Given the description of an element on the screen output the (x, y) to click on. 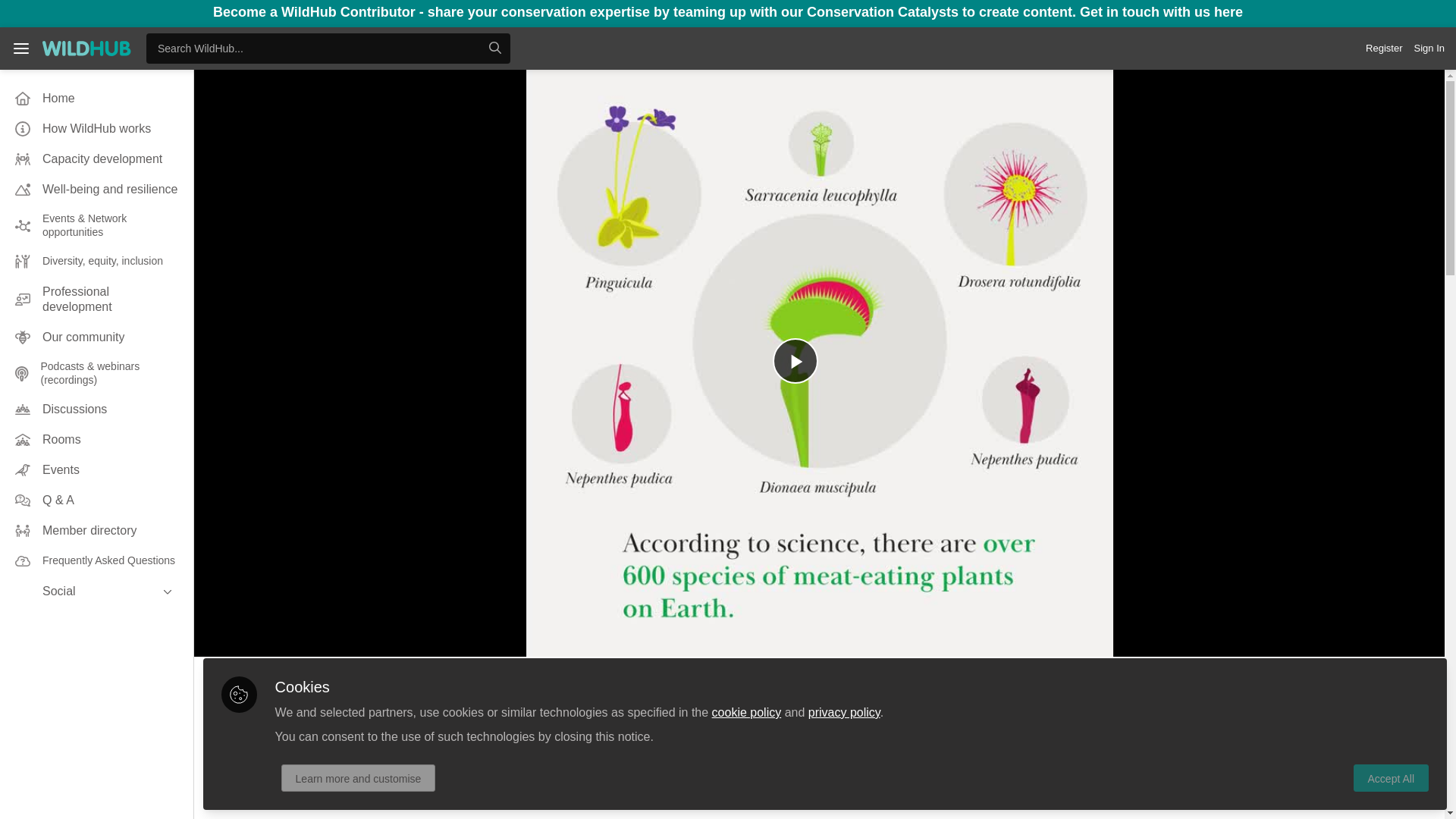
Menu (21, 48)
Well-being and resilience (96, 189)
Our community (96, 337)
WildHub (86, 48)
Member directory (96, 530)
Capacity development (96, 158)
Home (96, 98)
Discussions (96, 409)
Our community (96, 337)
Member directory (96, 530)
